Given the description of an element on the screen output the (x, y) to click on. 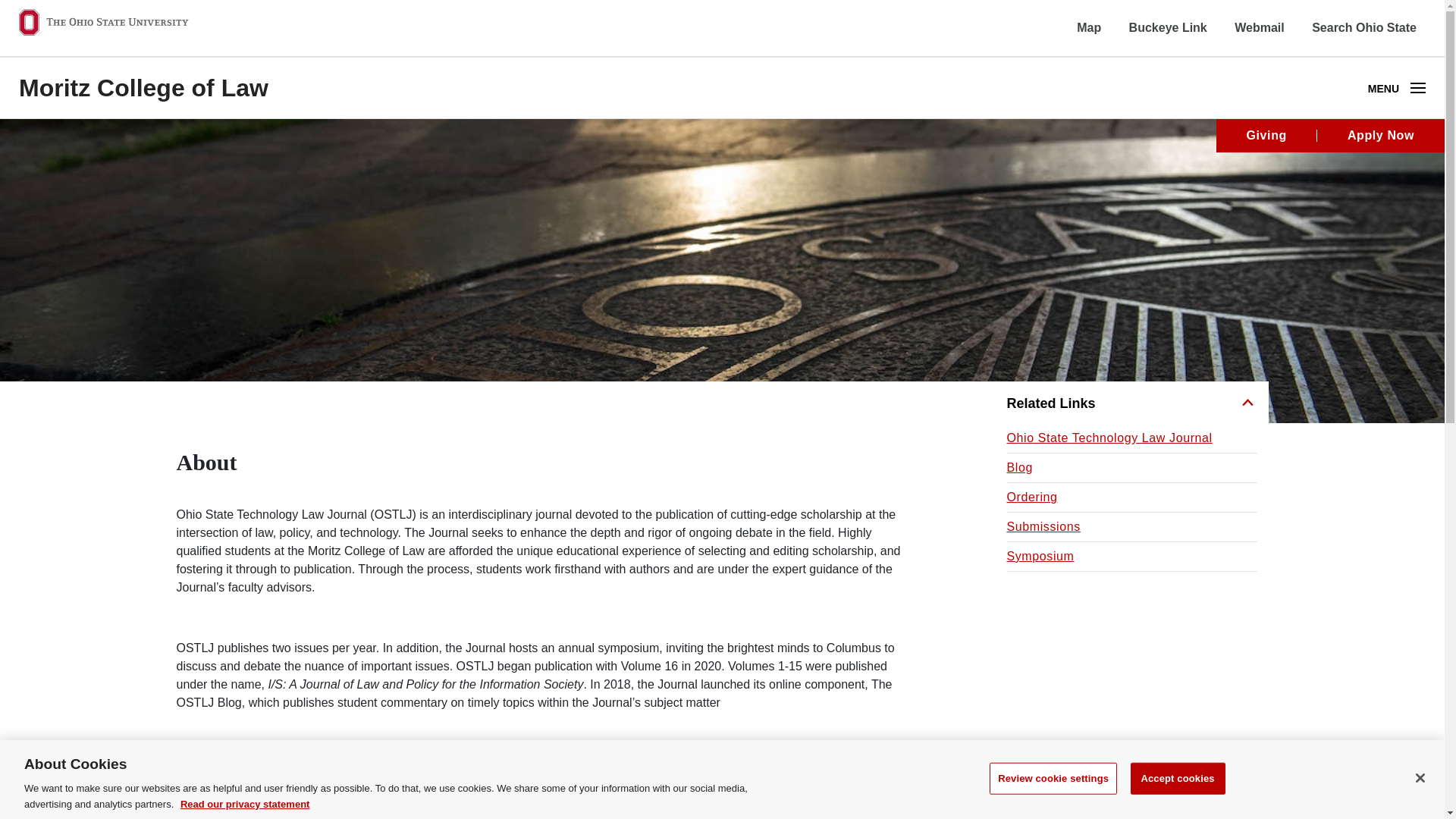
Map (1088, 27)
Buckeye Link (1168, 27)
Webmail (1259, 27)
Search Ohio State (1363, 27)
Moritz College of Law (142, 87)
Giving (1417, 87)
